Given the description of an element on the screen output the (x, y) to click on. 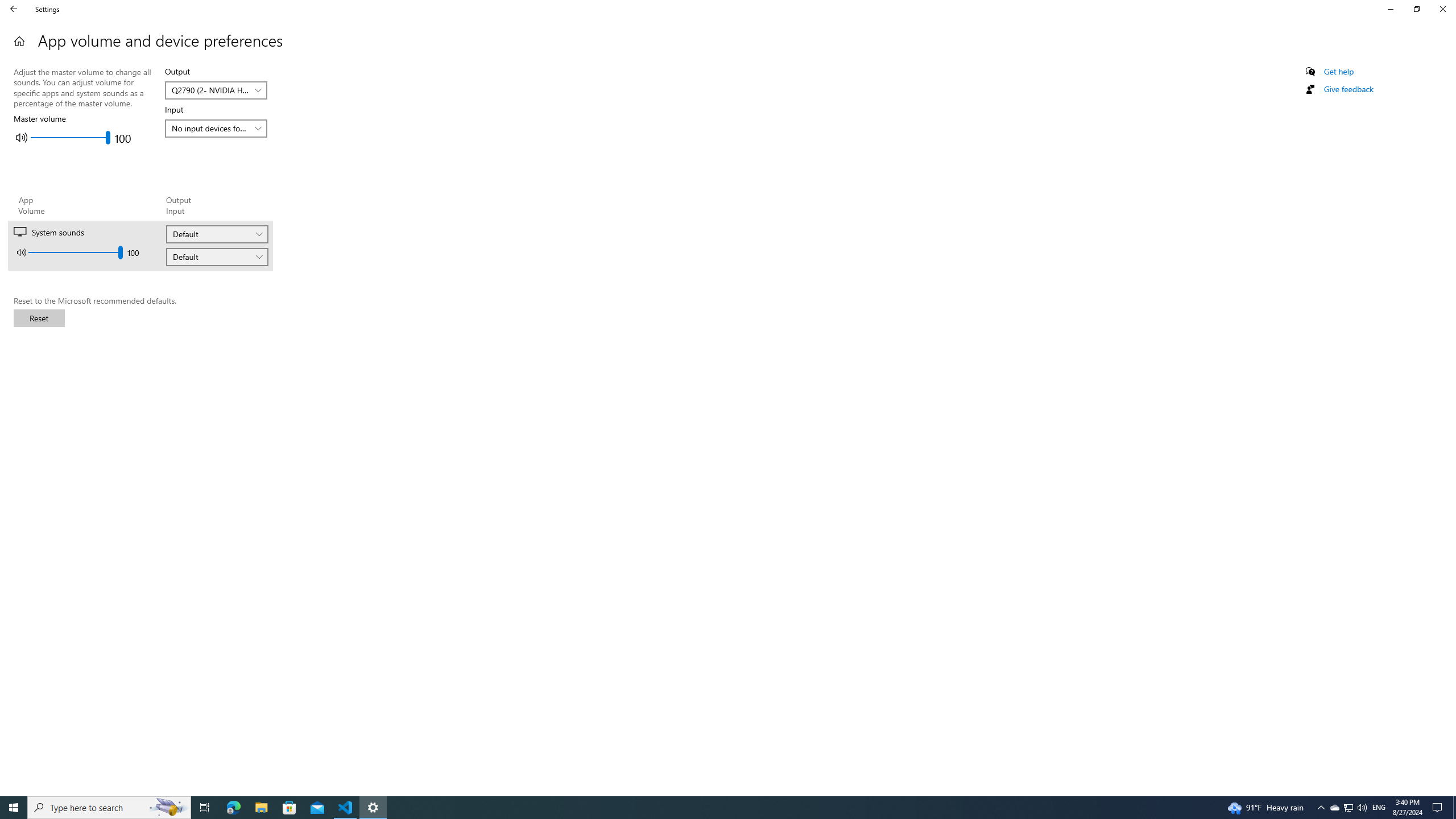
Action Center, No new notifications (1439, 807)
Input (216, 257)
Minimize Settings (1390, 9)
Output (216, 234)
User Promoted Notification Area (1347, 807)
Get help (1338, 71)
Reset to the Microsoft recommended defaults. (39, 317)
Visual Studio Code - 1 running window (345, 807)
Tray Input Indicator - English (United States) (1378, 807)
Microsoft Store (289, 807)
Running applications (706, 807)
Search highlights icon opens search home window (167, 807)
